Given the description of an element on the screen output the (x, y) to click on. 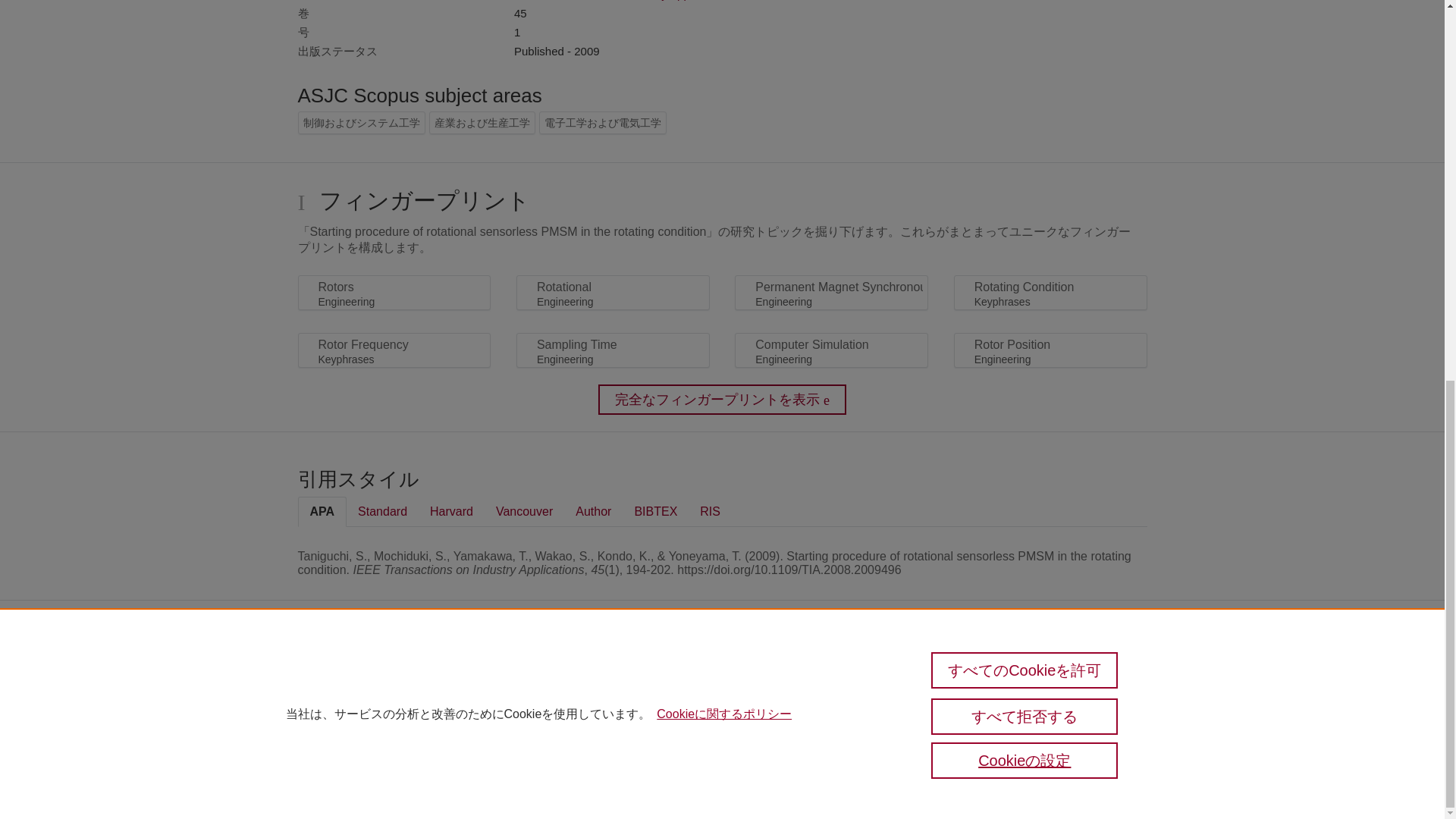
Pure (330, 676)
Elsevier B.V. (545, 699)
Scopus (362, 676)
